Given the description of an element on the screen output the (x, y) to click on. 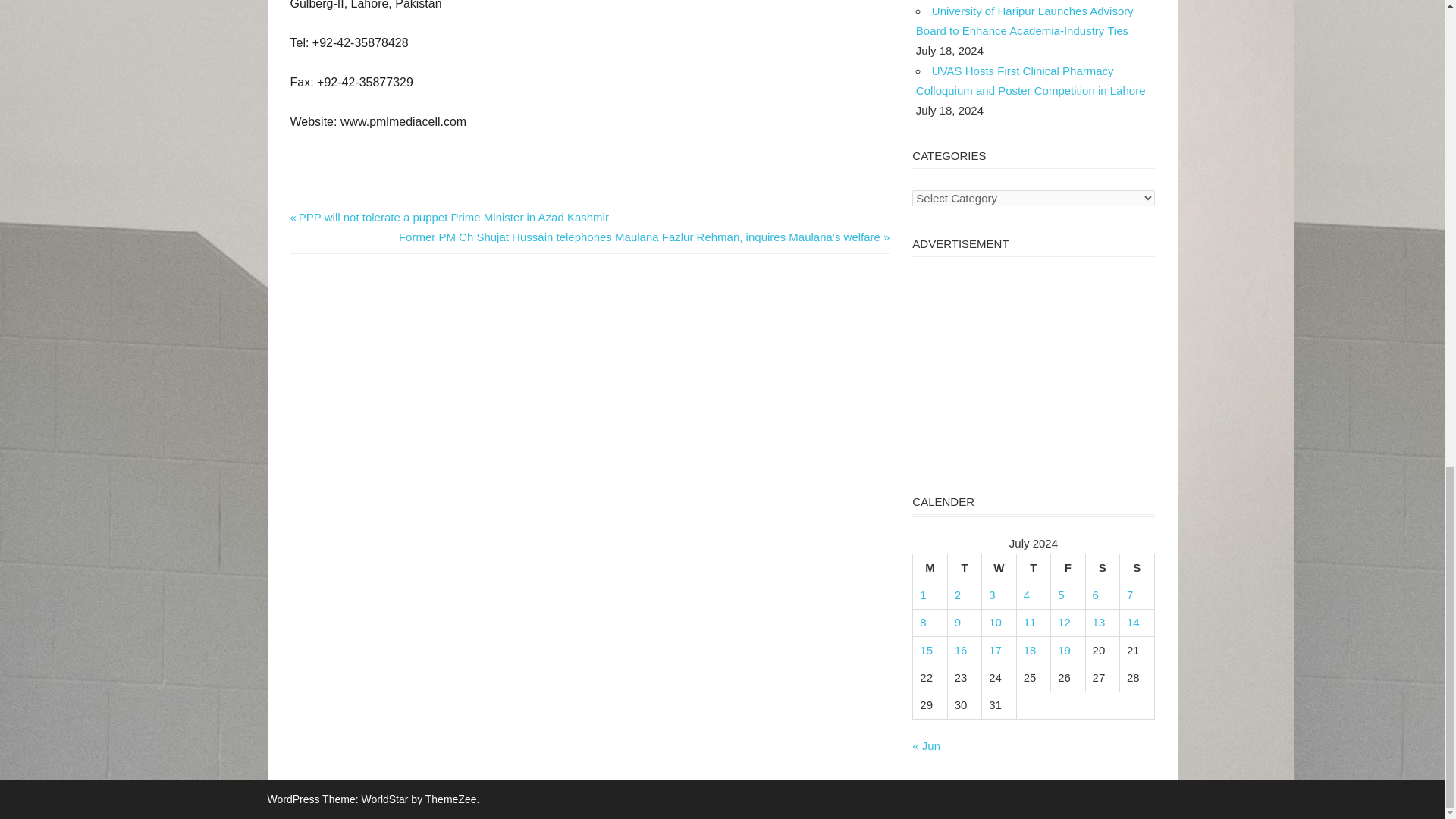
Tuesday (964, 567)
Pakistan Muslim League (311, 226)
10 (994, 621)
Saturday (1101, 567)
Monday (929, 567)
Sunday (1136, 567)
Wednesday (998, 567)
Thursday (1032, 567)
Friday (1067, 567)
